Given the description of an element on the screen output the (x, y) to click on. 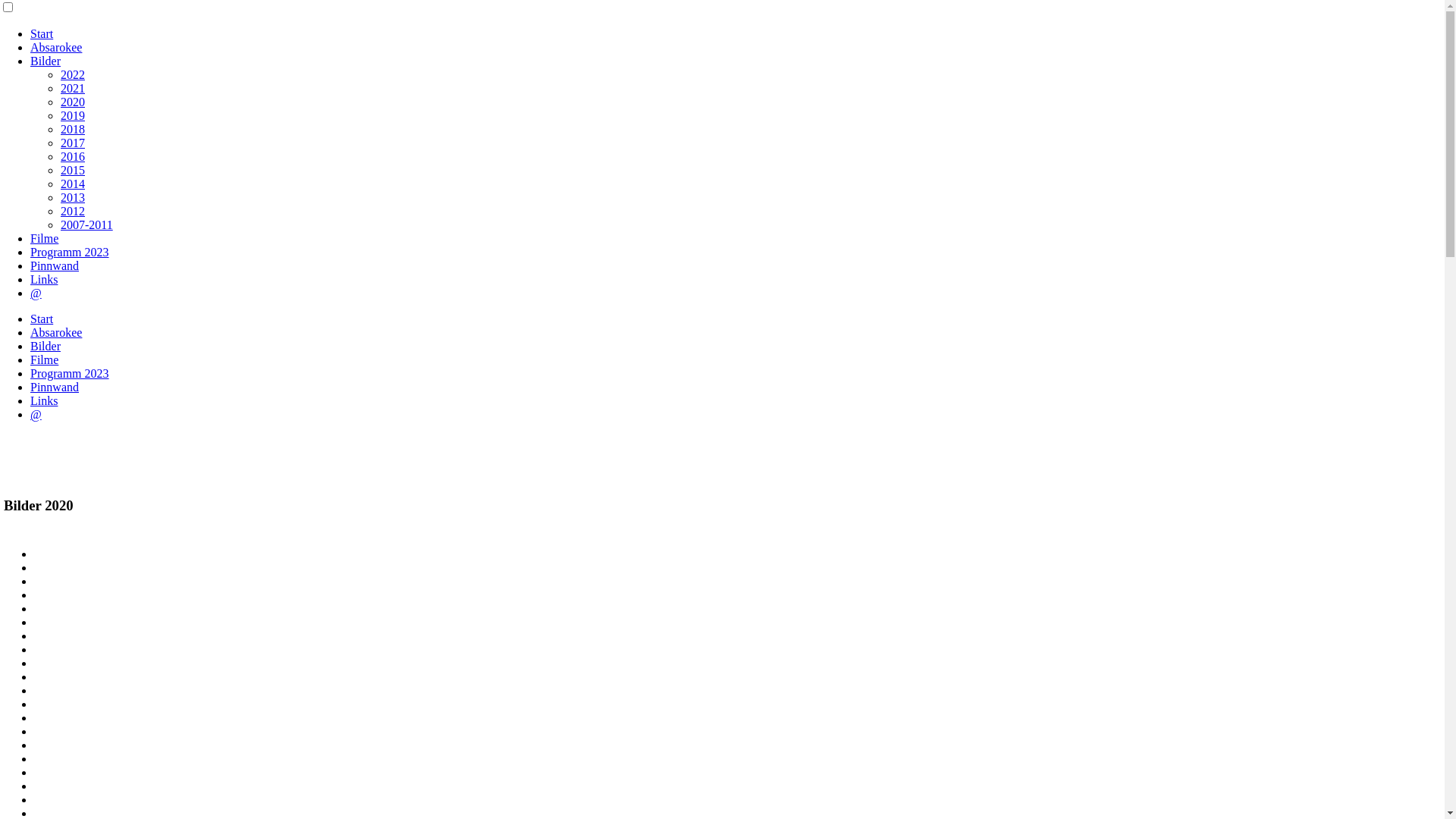
Start Element type: text (41, 318)
Filme Element type: text (44, 359)
Links Element type: text (43, 279)
2012 Element type: text (72, 210)
2019 Element type: text (72, 115)
Pinnwand Element type: text (54, 386)
2016 Element type: text (72, 156)
2007-2011 Element type: text (86, 224)
2017 Element type: text (72, 142)
Filme Element type: text (44, 238)
2018 Element type: text (72, 128)
2021 Element type: text (72, 87)
Absarokee Element type: text (55, 46)
Start Element type: text (41, 33)
2014 Element type: text (72, 183)
Programm 2023 Element type: text (69, 251)
Absarokee Element type: text (55, 332)
2013 Element type: text (72, 197)
Links Element type: text (43, 400)
2022 Element type: text (72, 74)
Pinnwand Element type: text (54, 265)
2020 Element type: text (72, 101)
Bilder Element type: text (45, 60)
@ Element type: text (35, 413)
@ Element type: text (35, 292)
Programm 2023 Element type: text (69, 373)
Bilder Element type: text (45, 345)
2015 Element type: text (72, 169)
